Given the description of an element on the screen output the (x, y) to click on. 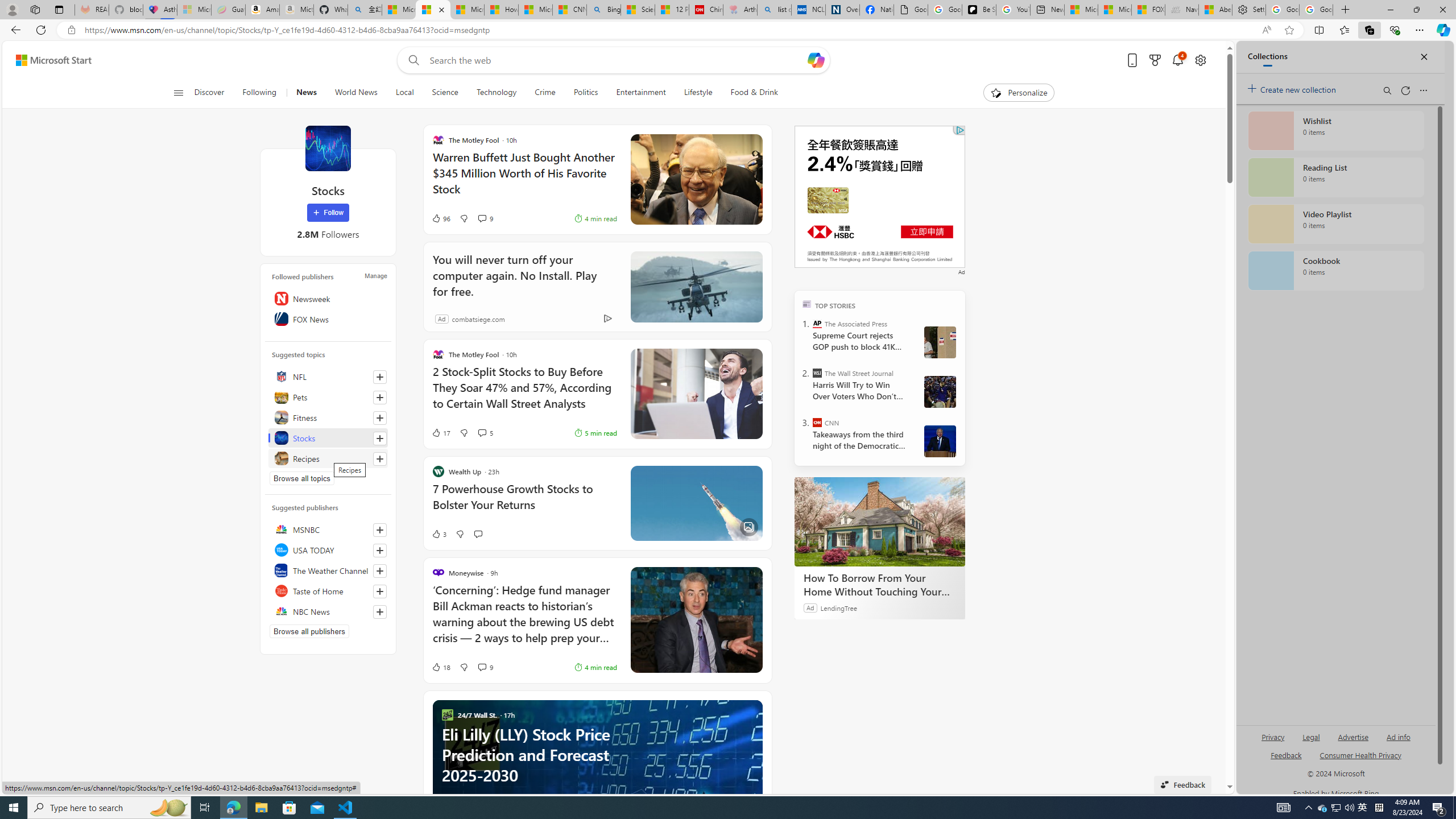
USA TODAY (327, 549)
FOX News - MSN (1148, 9)
